Given the description of an element on the screen output the (x, y) to click on. 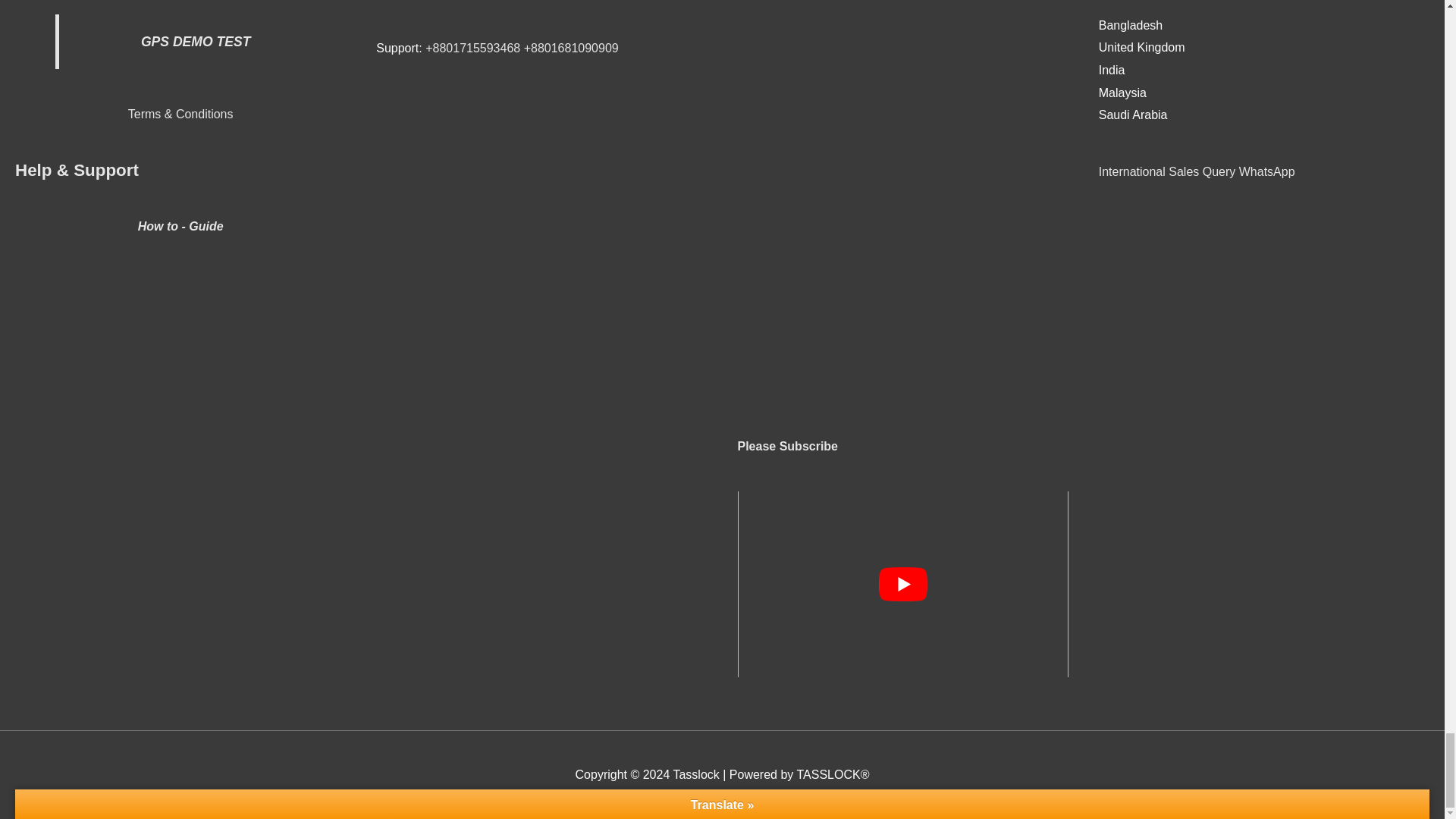
International Sales Query WhatsApp (1197, 171)
GPS DEMO TEST (195, 41)
8801681090909 (574, 47)
How to - Guide (181, 226)
Please Subscribe (787, 445)
